Given the description of an element on the screen output the (x, y) to click on. 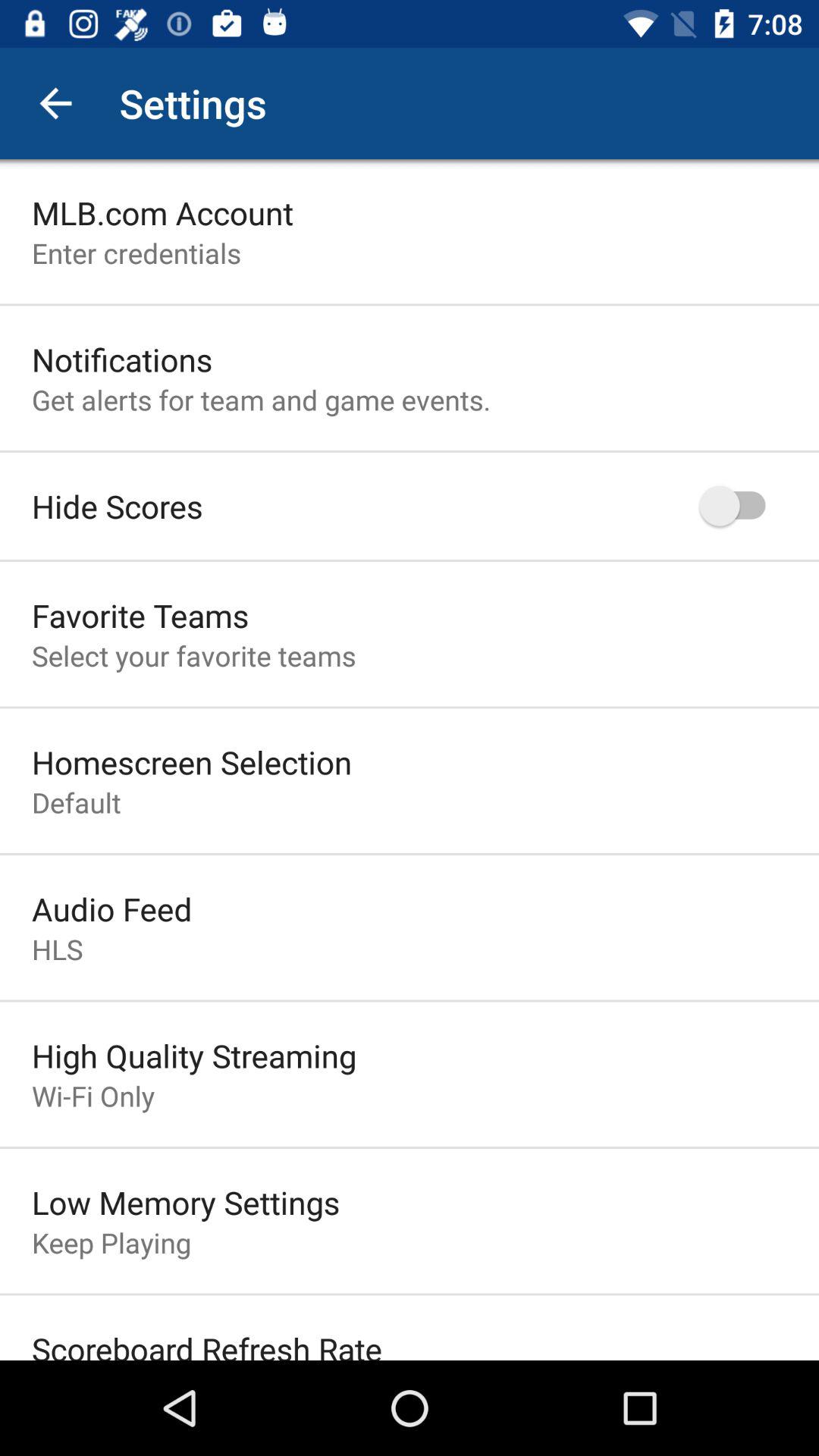
turn on high quality streaming item (193, 1055)
